Given the description of an element on the screen output the (x, y) to click on. 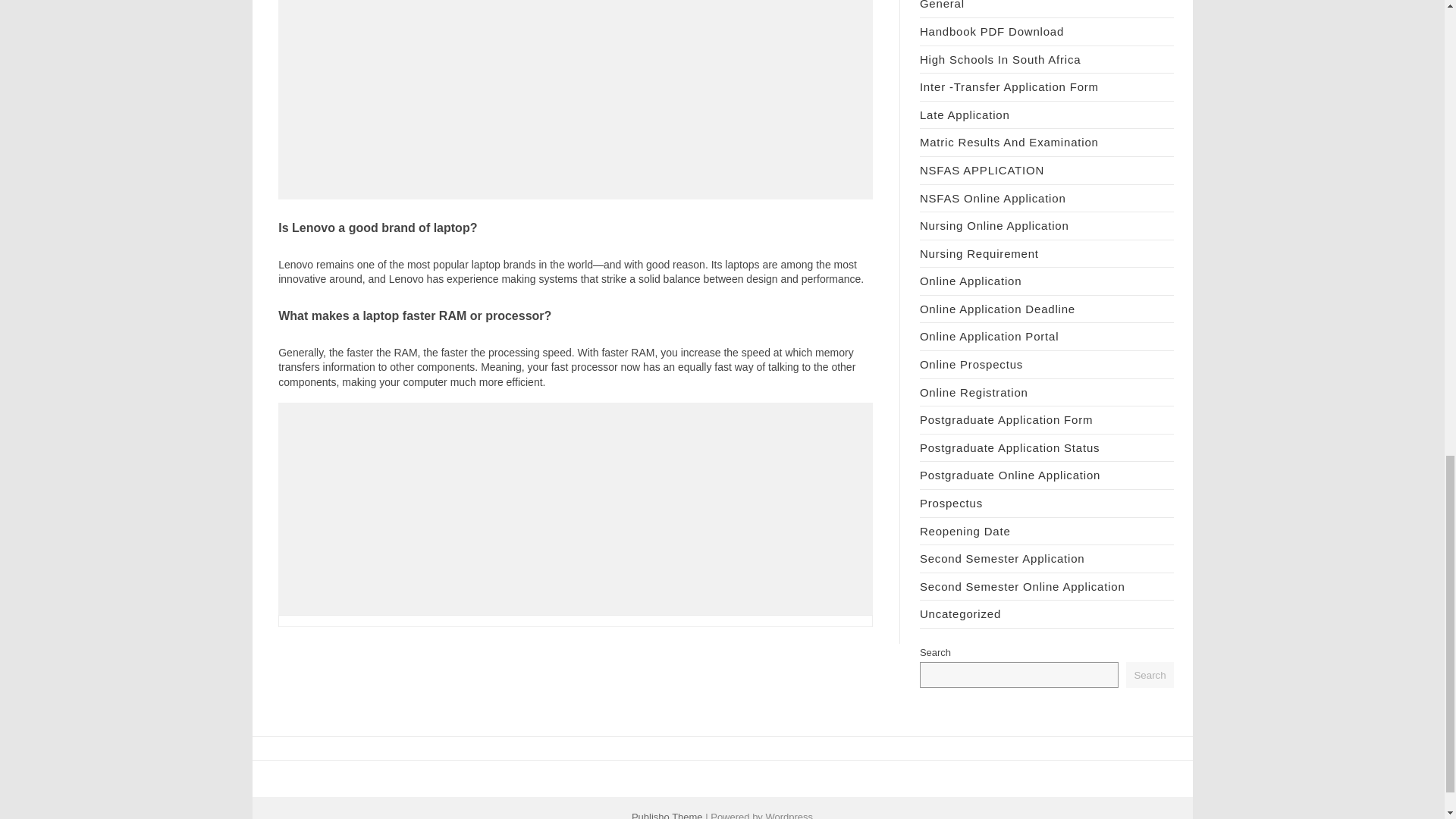
NSFAS APPLICATION (981, 169)
General (941, 4)
Handbook PDF Download (992, 31)
High Schools In South Africa (1000, 59)
NSFAS Online Application (992, 197)
Online Application Deadline (997, 308)
Online Prospectus (971, 364)
Online Application (971, 280)
Inter -Transfer Application Form (1009, 86)
Nursing Online Application (994, 225)
